Given the description of an element on the screen output the (x, y) to click on. 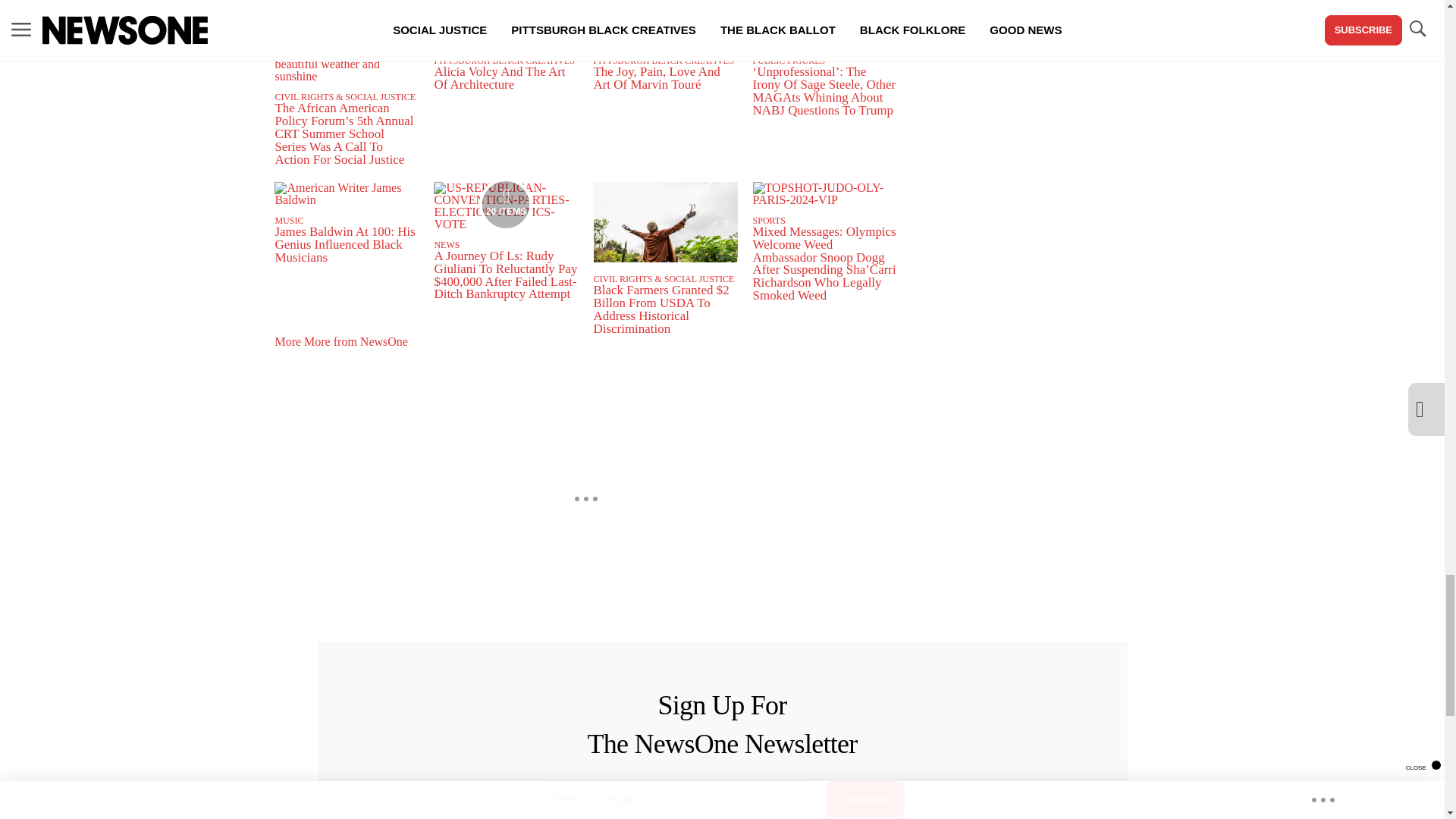
Media Playlist (505, 204)
PITTSBURGH BLACK CREATIVES (503, 60)
PITTSBURGH BLACK CREATIVES (662, 60)
Alicia Volcy And The Art Of Architecture (498, 77)
More from NewsOne (330, 27)
